Given the description of an element on the screen output the (x, y) to click on. 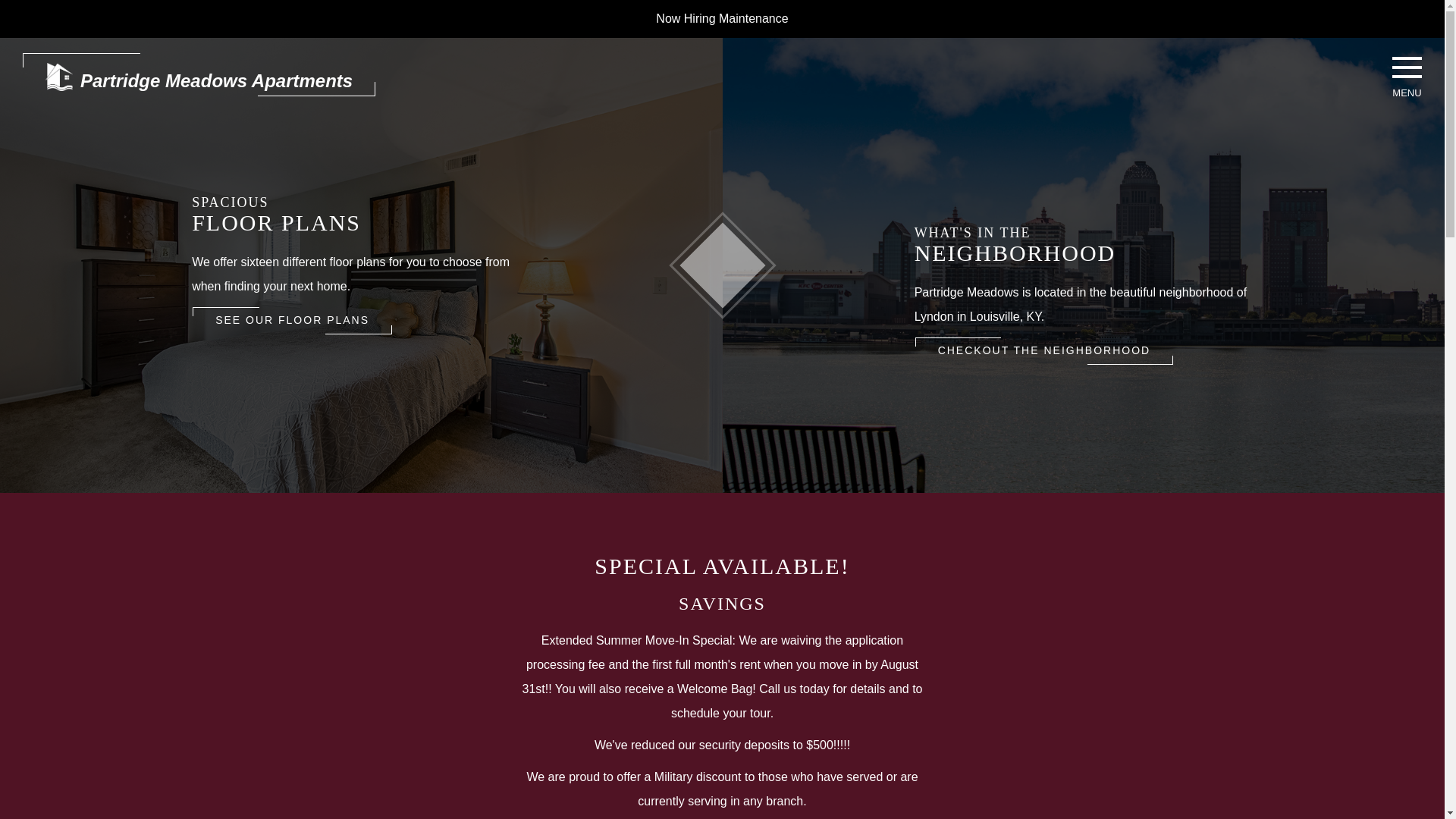
Partridge Meadows Apartments (199, 74)
SEE OUR FLOOR PLANS (292, 320)
Now Hiring Maintenance (721, 18)
CHECKOUT THE NEIGHBORHOOD (1044, 350)
